Given the description of an element on the screen output the (x, y) to click on. 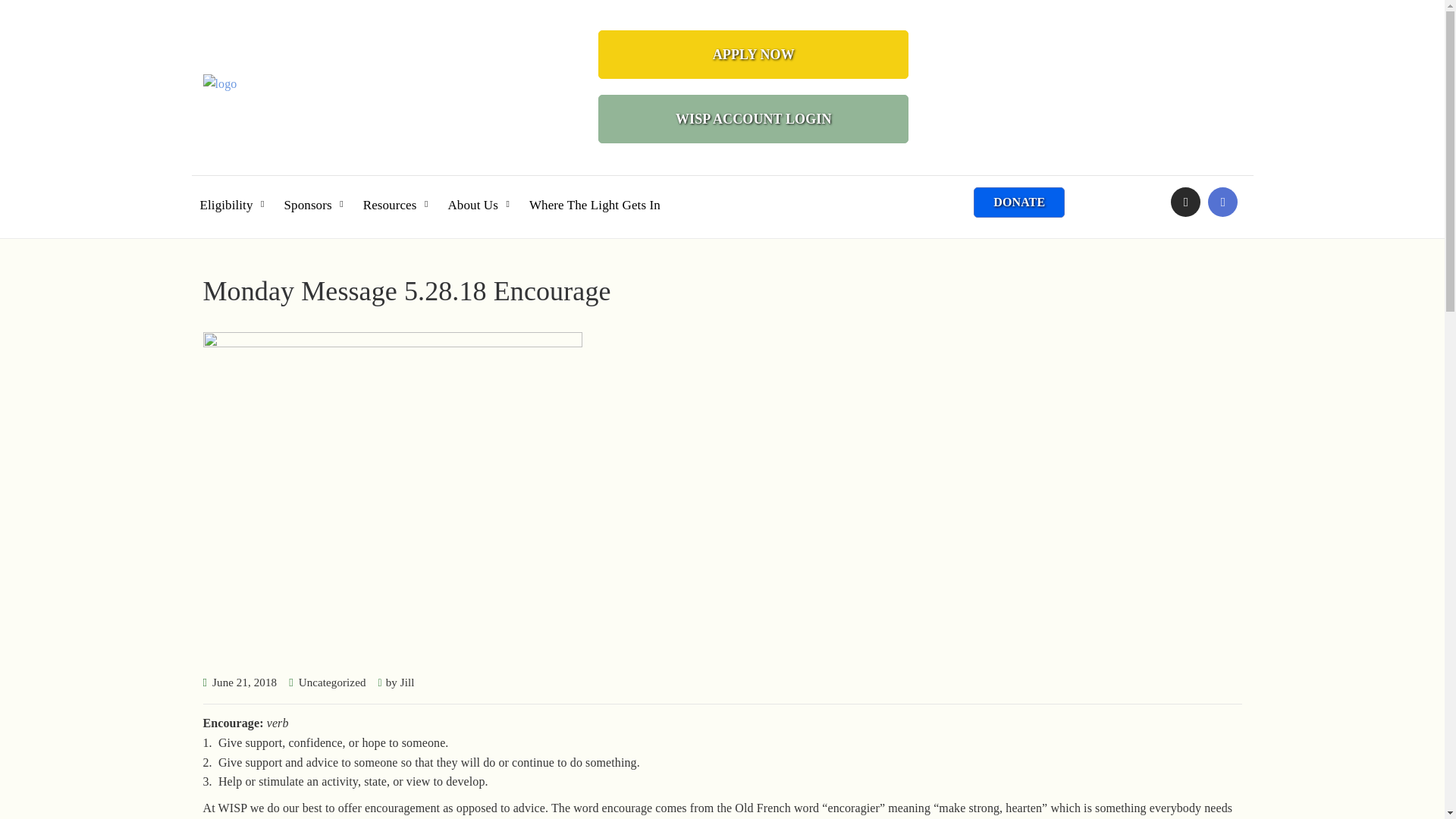
Sponsors (313, 195)
Permalink to Monday Message 5.28.18  Encourage (244, 682)
APPLY NOW (753, 54)
Donate (1019, 202)
Eligibility (232, 195)
WISP ACCOUNT LOGIN (753, 119)
View all posts by Jill (407, 682)
